Given the description of an element on the screen output the (x, y) to click on. 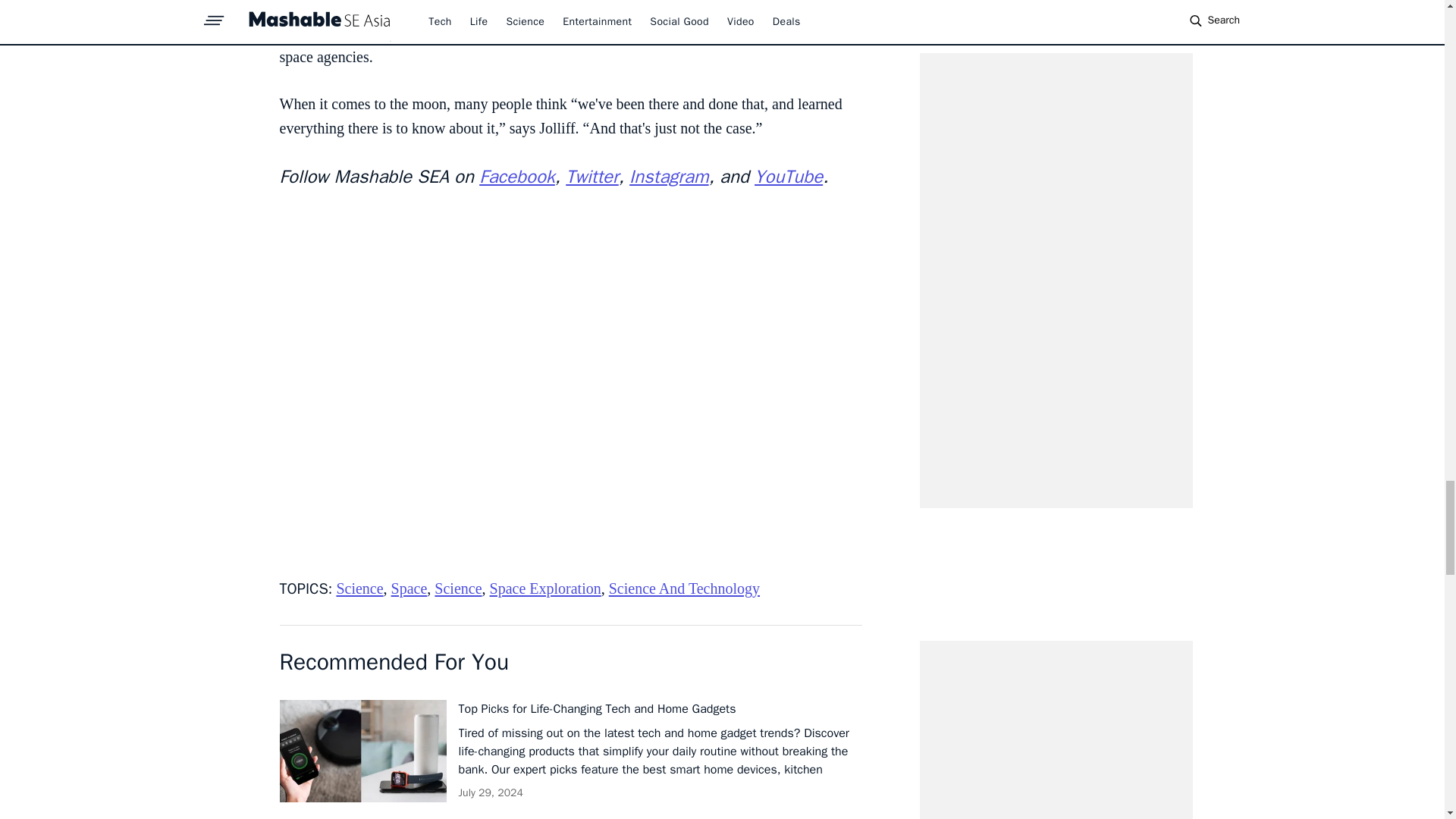
Instagram (668, 176)
mission (511, 8)
Indian (579, 32)
Space (409, 588)
Facebook (516, 176)
Japanese (634, 32)
Science (457, 588)
Science (359, 588)
YouTube (788, 176)
Twitter (592, 176)
Korean (811, 32)
Russian (692, 32)
